Given the description of an element on the screen output the (x, y) to click on. 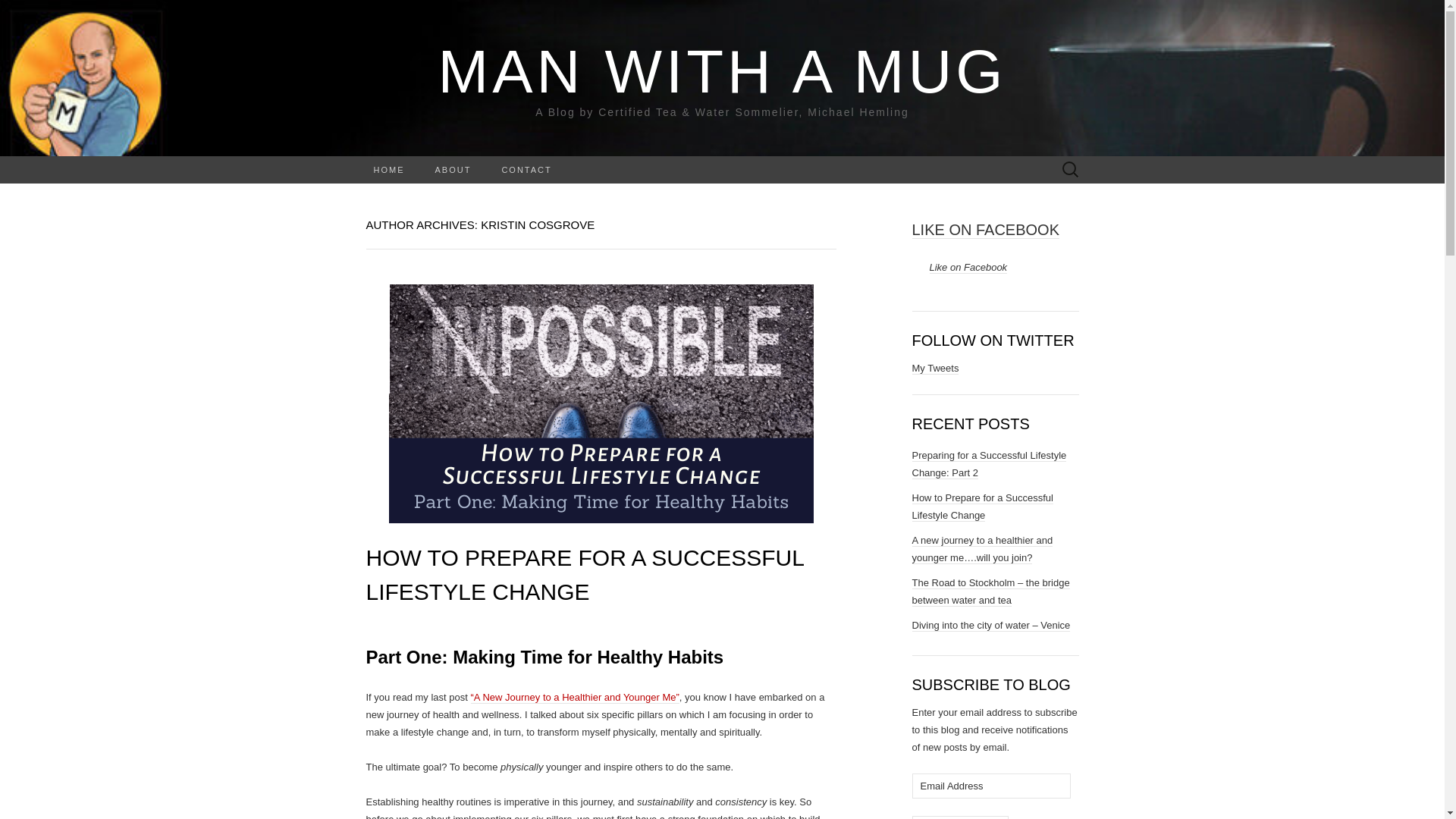
My Tweets (934, 368)
SUBSCRIBE (960, 817)
Like on Facebook (968, 267)
Man With a Mug (722, 71)
LIKE ON FACEBOOK (985, 230)
HOW TO PREPARE FOR A SUCCESSFUL LIFESTYLE CHANGE (584, 574)
HOME (388, 169)
How to Prepare for a Successful Lifestyle Change (981, 506)
Search (16, 12)
ABOUT (453, 169)
